Given the description of an element on the screen output the (x, y) to click on. 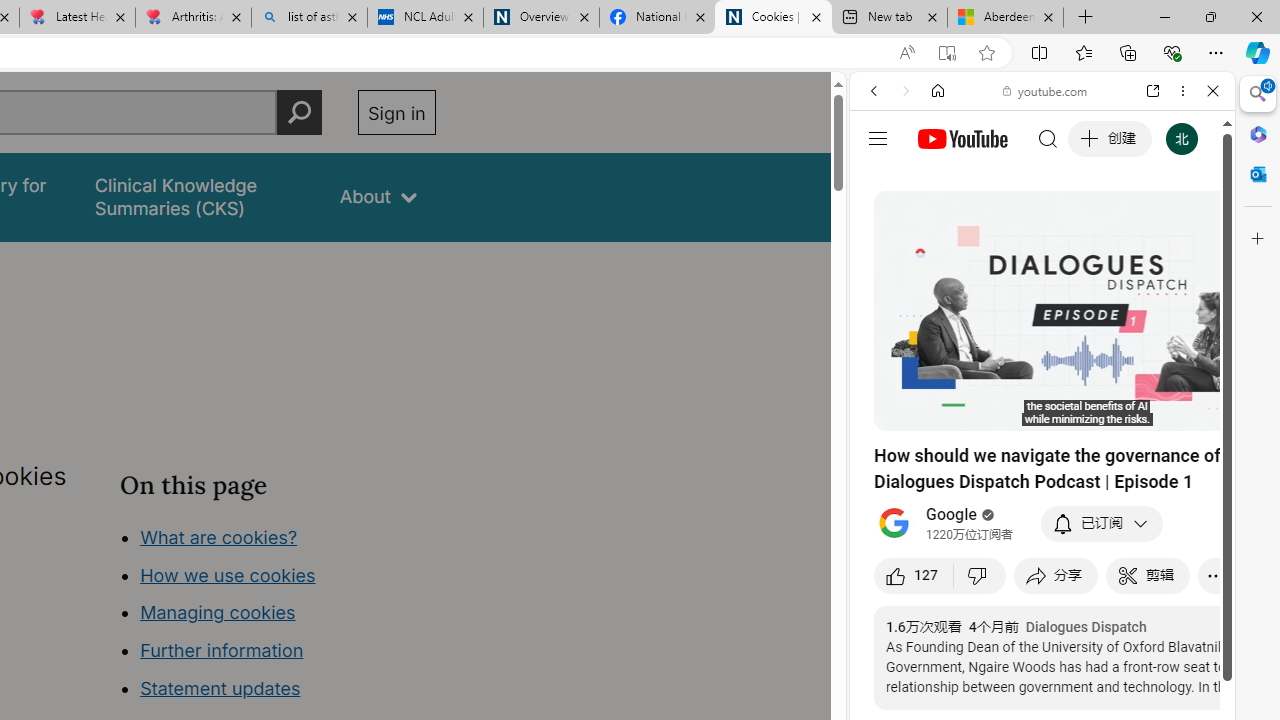
Search videos from youtube.com (1005, 657)
How we use cookies (227, 574)
Cookies | About | NICE (772, 17)
